Given the description of an element on the screen output the (x, y) to click on. 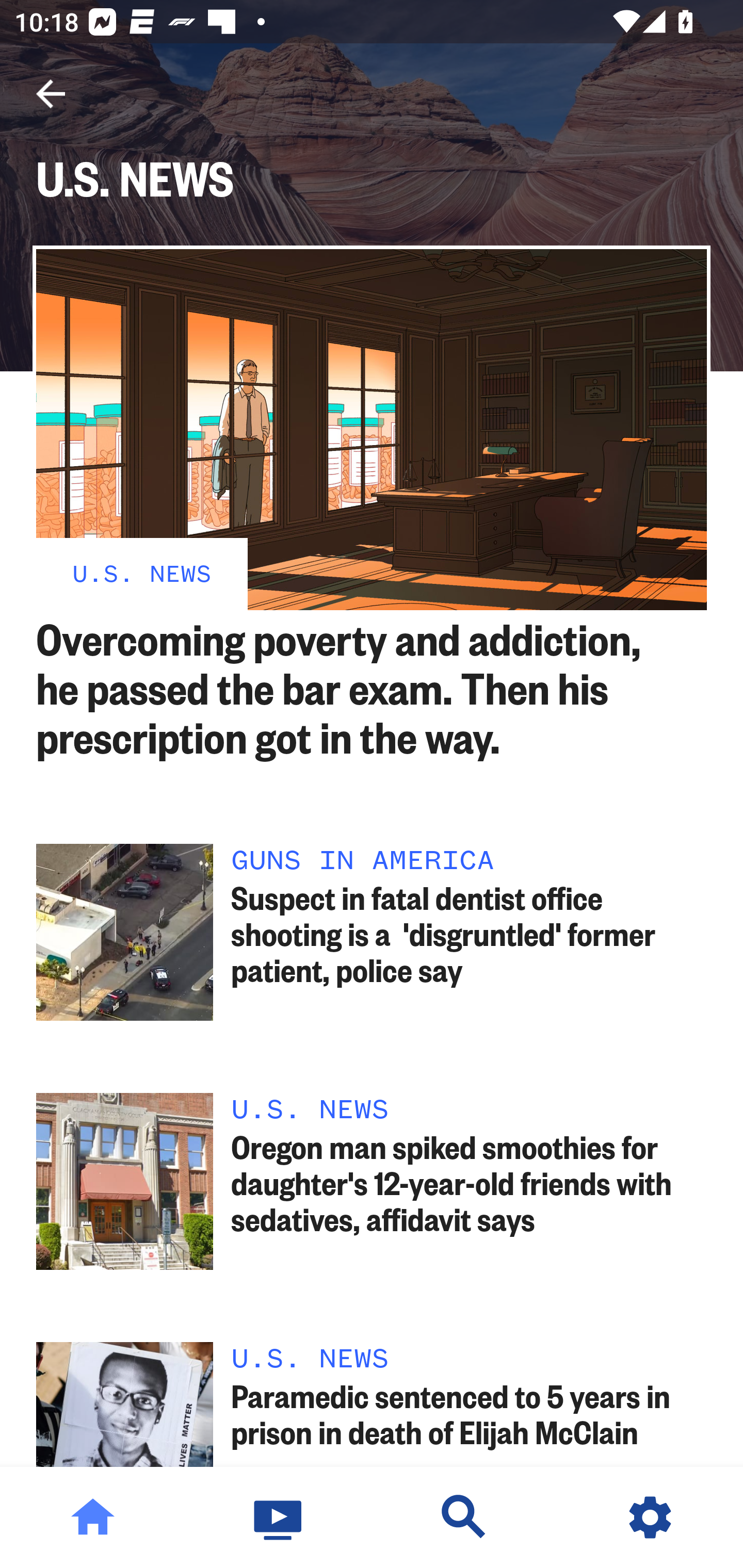
Navigate up (50, 93)
Watch (278, 1517)
Discover (464, 1517)
Settings (650, 1517)
